Given the description of an element on the screen output the (x, y) to click on. 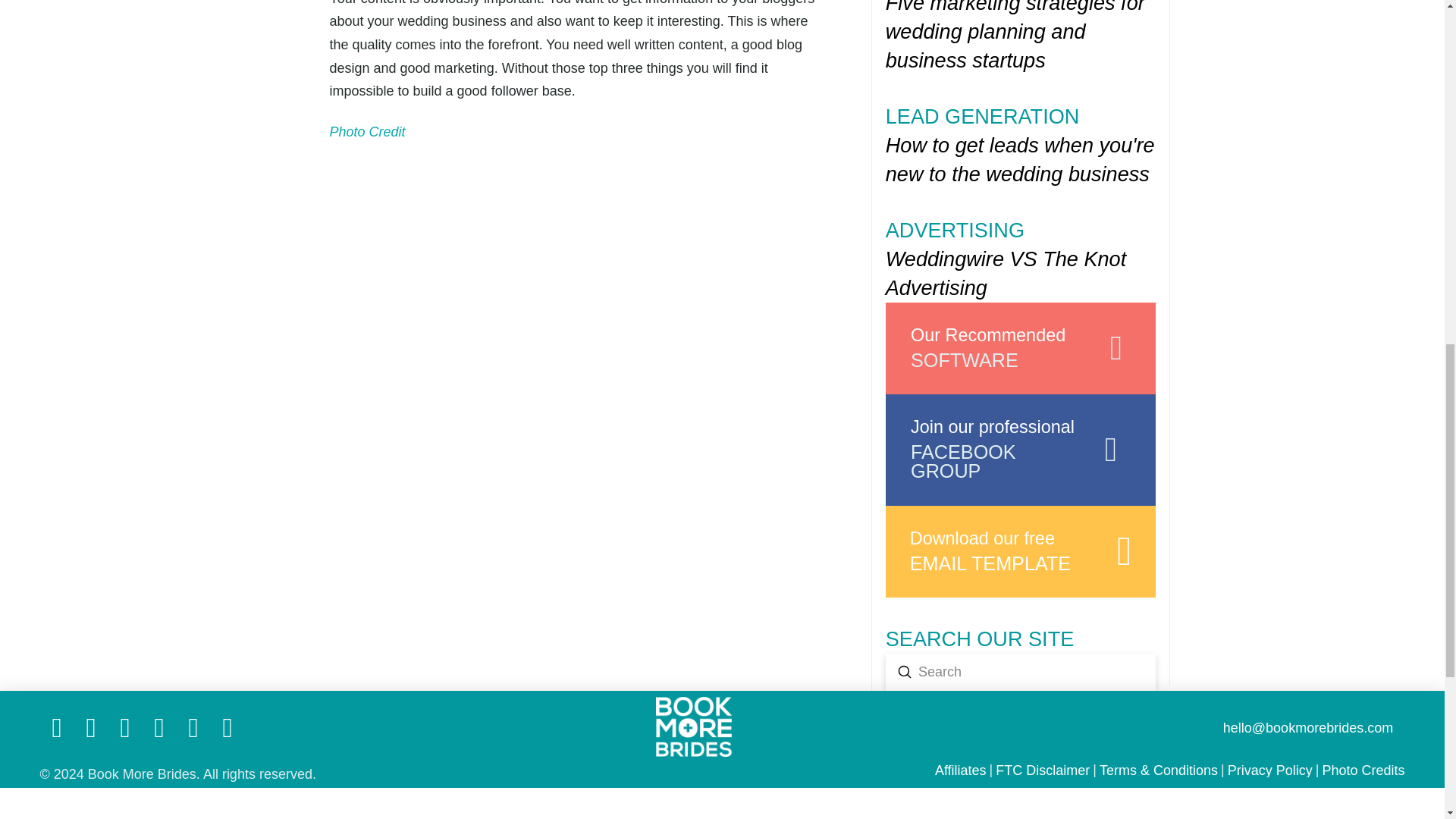
How to get leads when you're new to the wedding business (1020, 449)
Submit (1020, 160)
Photo Credit (904, 671)
Weddingwire VS The Knot Advertising (1020, 347)
